Given the description of an element on the screen output the (x, y) to click on. 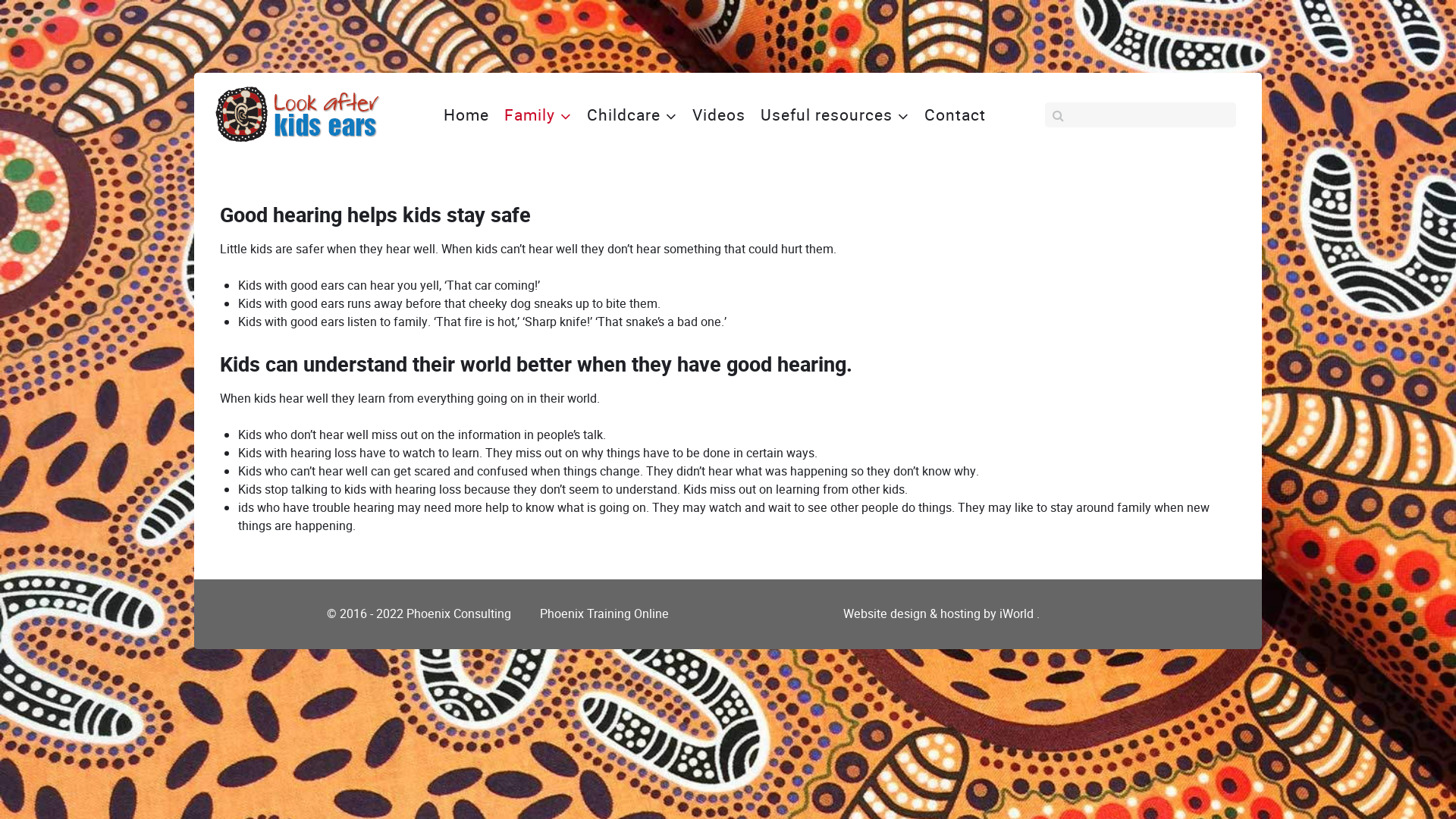
iWorld  Element type: text (1017, 613)
Home Element type: text (466, 114)
Videos Element type: text (718, 114)
Contact Element type: text (954, 114)
Useful resources Element type: text (834, 114)
Phoenix Training Online Element type: text (606, 613)
Family Element type: text (537, 114)
Phoenix Consulting Element type: text (461, 613)
Childcare Element type: text (631, 114)
